Given the description of an element on the screen output the (x, y) to click on. 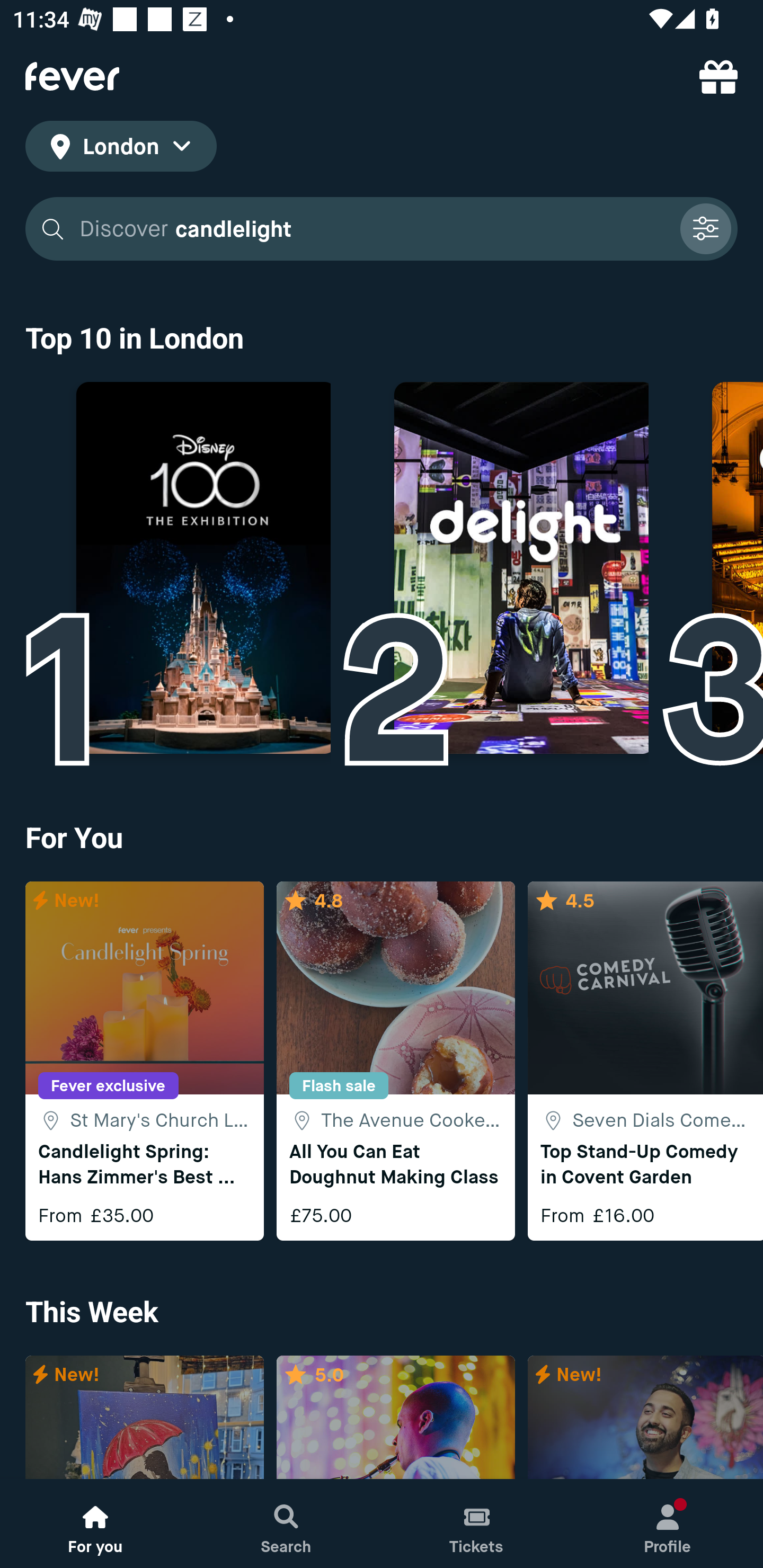
referral (718, 75)
location icon London location icon (120, 149)
Discover candlelight (381, 228)
Discover candlelight (373, 228)
Search (285, 1523)
Tickets (476, 1523)
Profile, New notification Profile (667, 1523)
